Given the description of an element on the screen output the (x, y) to click on. 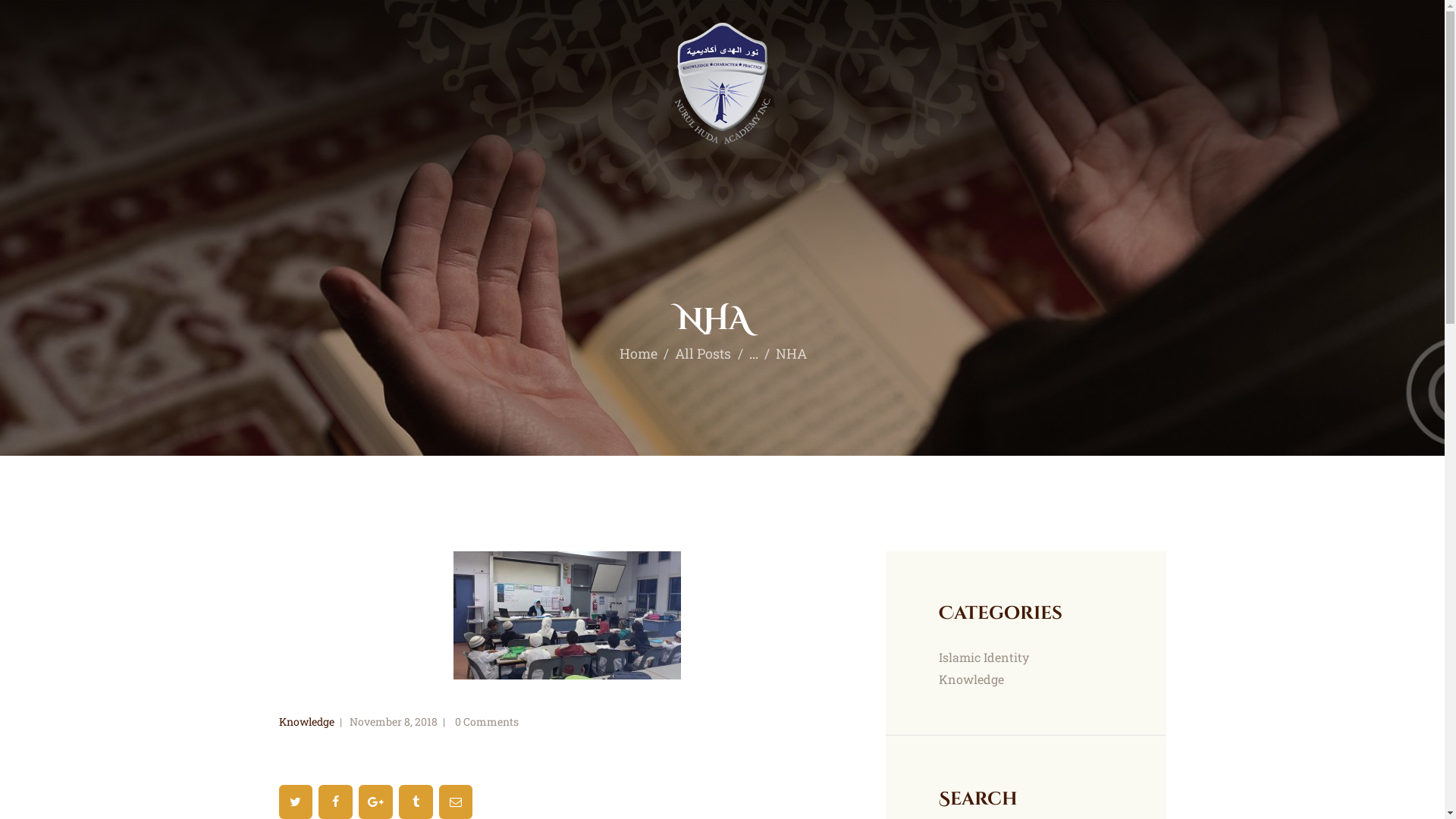
November 8, 2018 Element type: text (392, 721)
All Posts Element type: text (702, 353)
Home Element type: text (638, 353)
0Comments Element type: text (484, 721)
Knowledge Element type: text (306, 721)
Islamic Identity Element type: text (983, 657)
Knowledge Element type: text (971, 679)
